Given the description of an element on the screen output the (x, y) to click on. 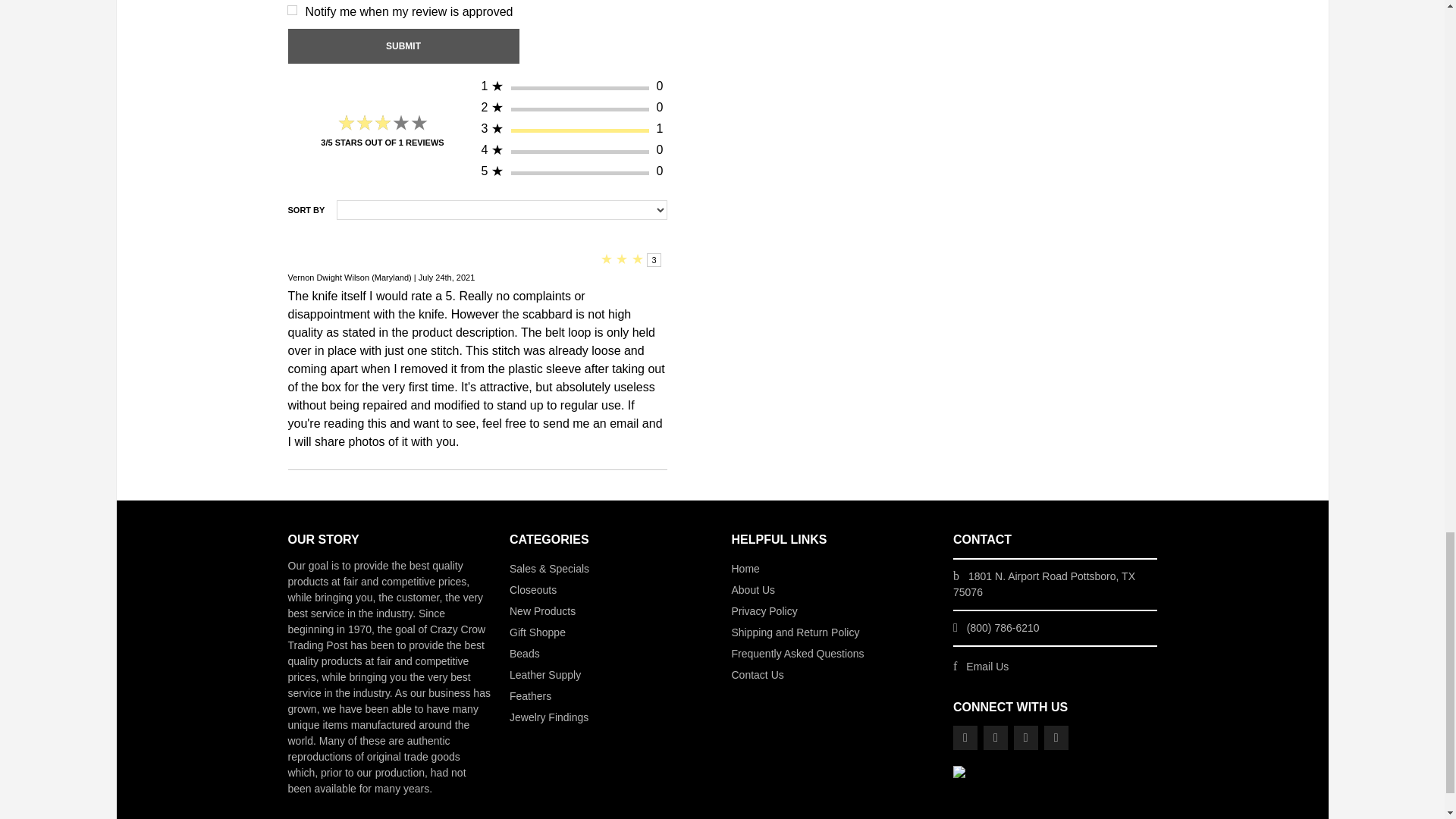
Submit (403, 45)
